Given the description of an element on the screen output the (x, y) to click on. 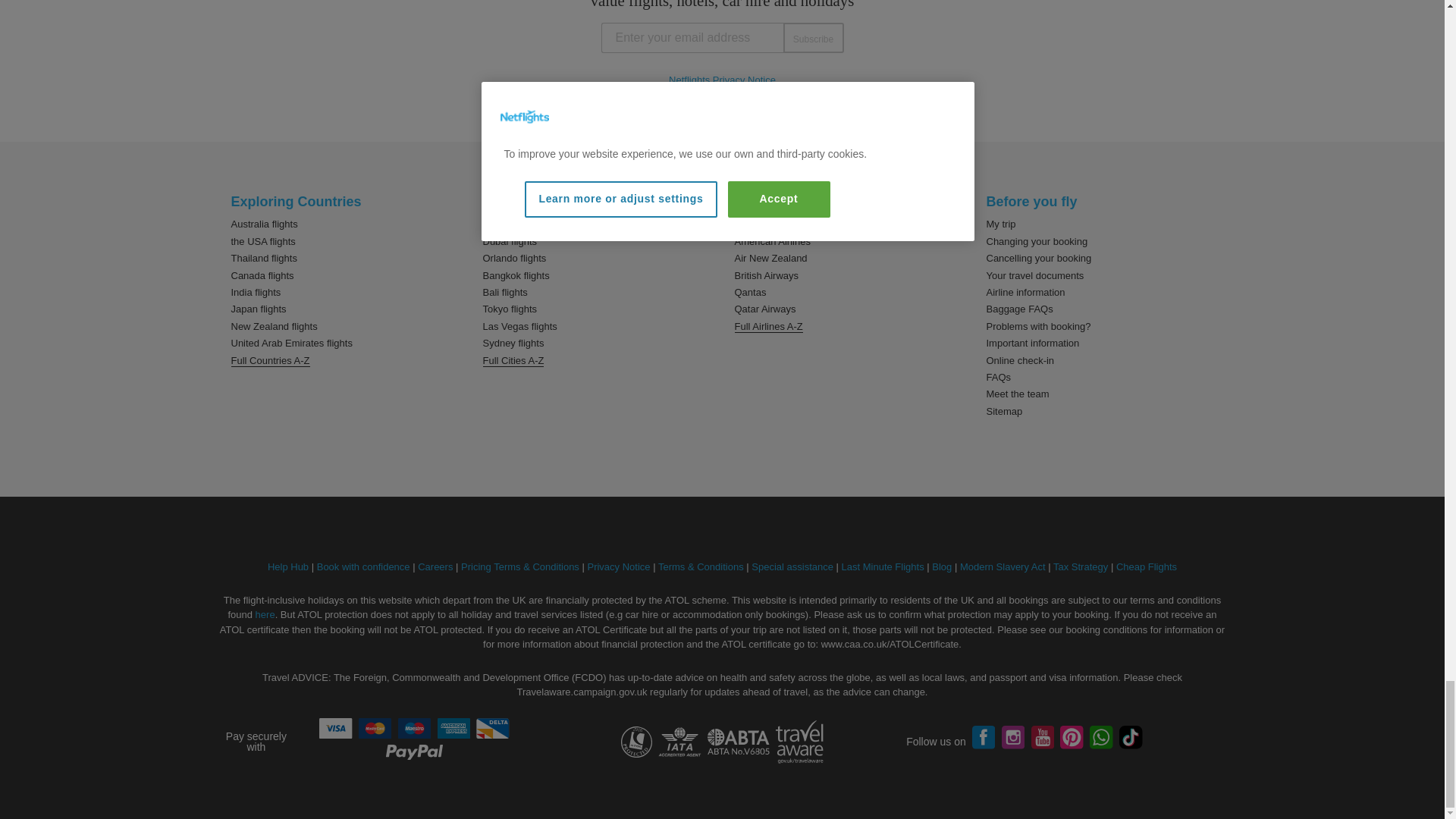
Dnata Careers (434, 566)
cheap flights (1146, 566)
Help Hub (287, 566)
